Given the description of an element on the screen output the (x, y) to click on. 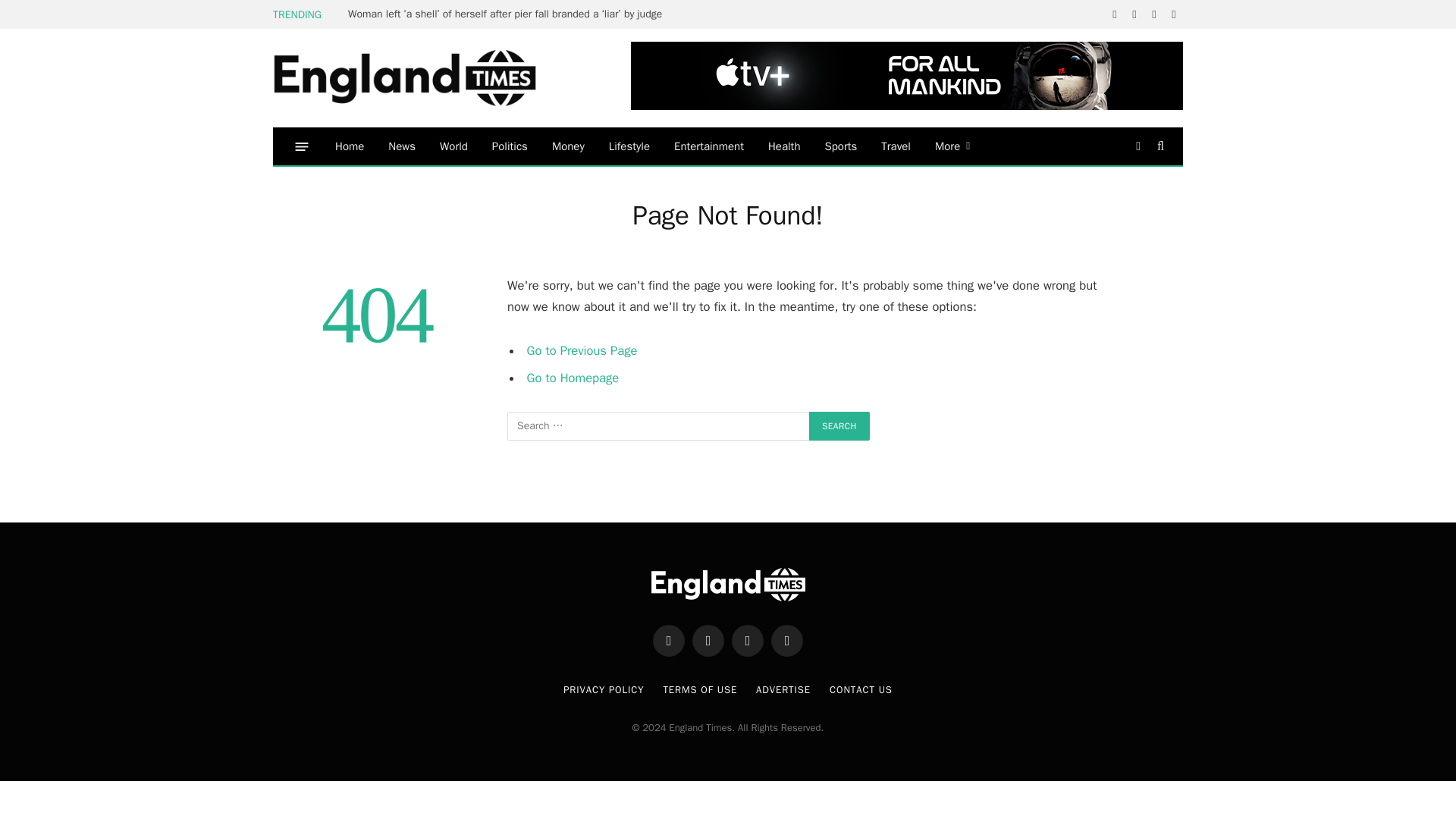
Search (839, 425)
Switch to Dark Design - easier on eyes. (1138, 146)
Search (839, 425)
England Times (428, 78)
